Given the description of an element on the screen output the (x, y) to click on. 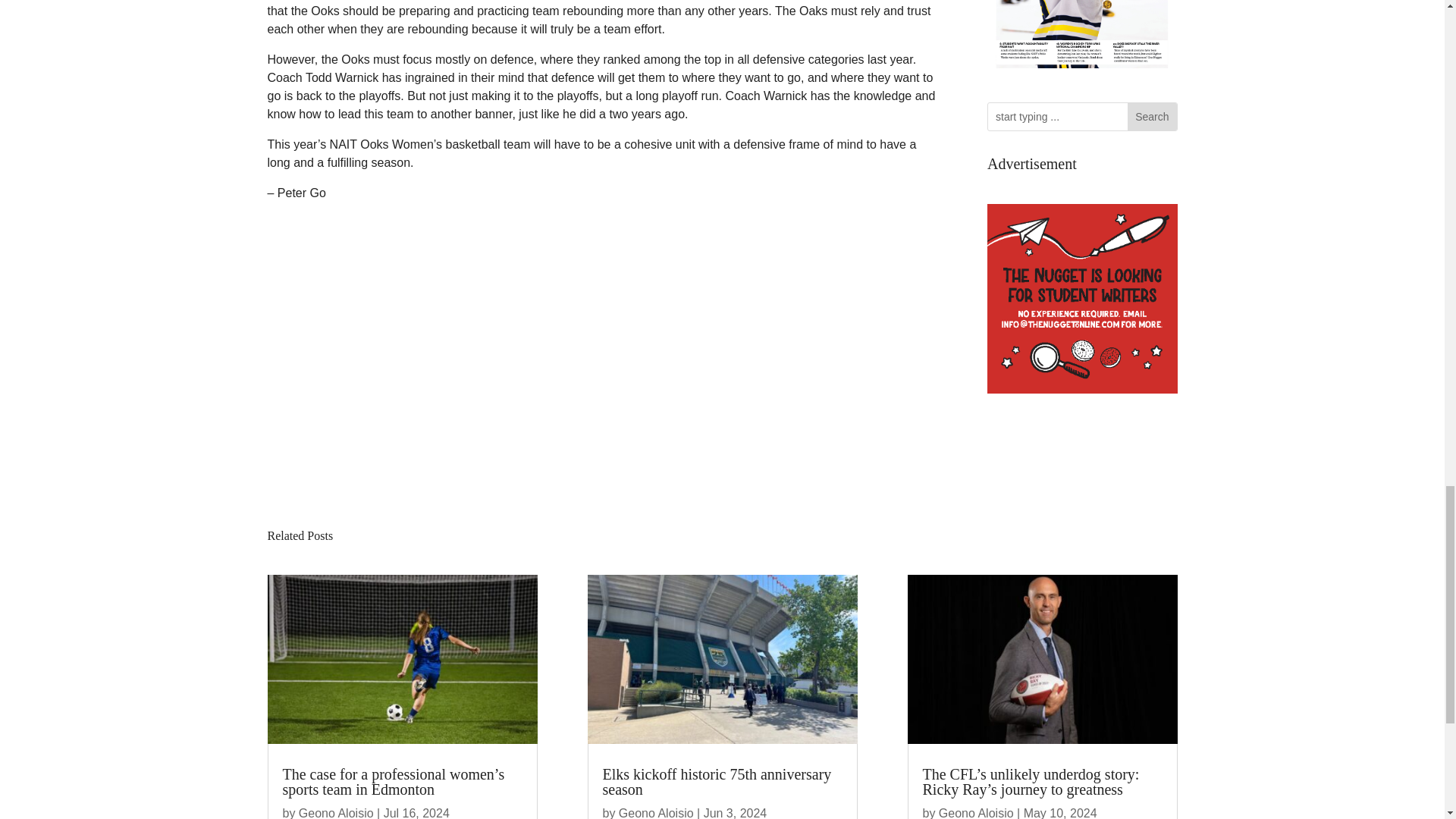
Search (1151, 116)
Posts by Geono Aloisio (336, 812)
red box (1082, 298)
Posts by Geono Aloisio (656, 812)
Posts by Geono Aloisio (976, 812)
april 11 fcover (1082, 38)
Search (1151, 116)
